Given the description of an element on the screen output the (x, y) to click on. 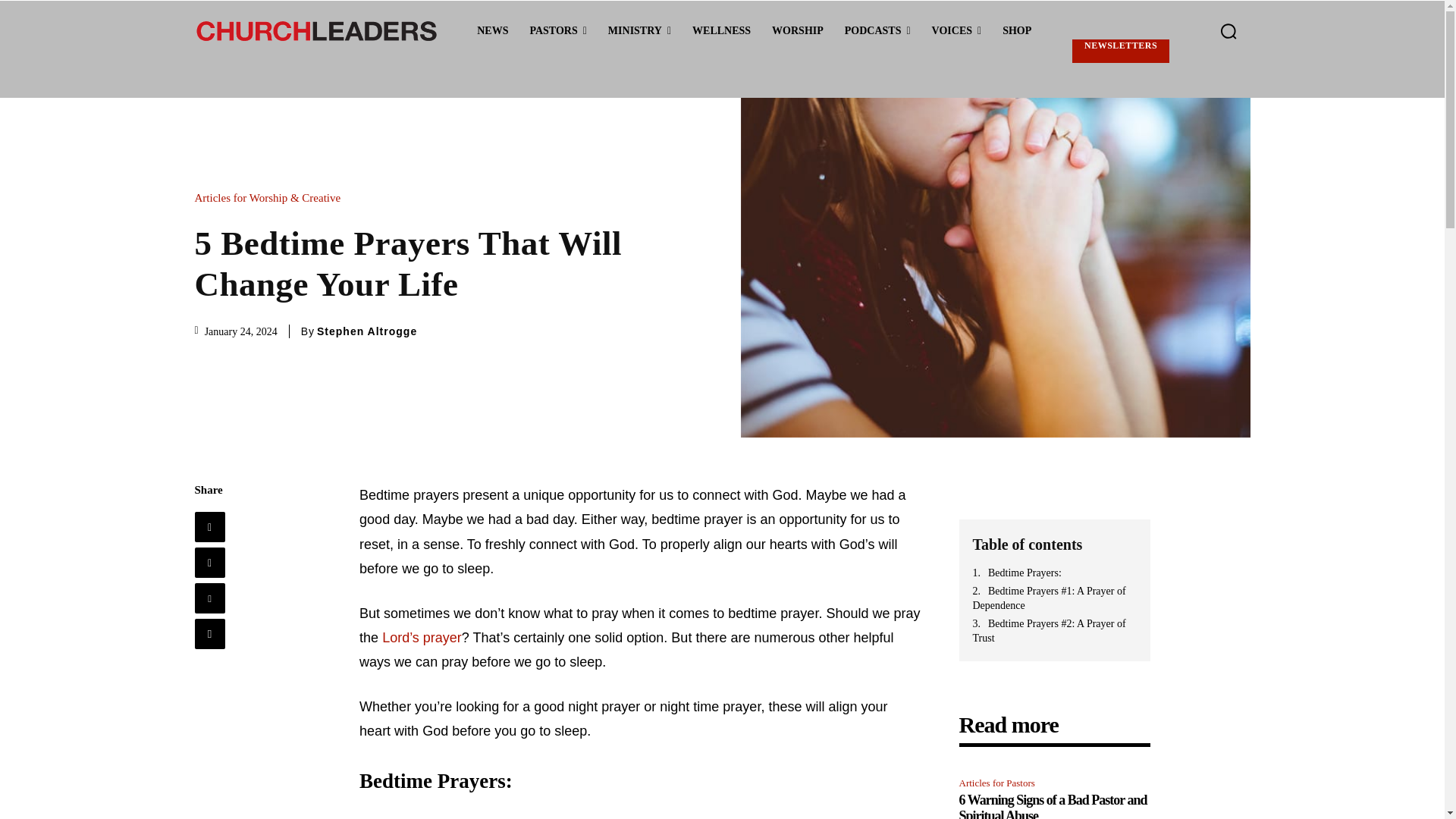
Pinterest (208, 598)
Twitter (208, 562)
Newsletters (1120, 51)
PODCASTS (877, 30)
MINISTRY (638, 30)
WELLNESS (721, 30)
6 Warning Signs of a Bad Pastor and Spiritual Abuse (1052, 805)
PASTORS (557, 30)
Facebook (208, 526)
